Given the description of an element on the screen output the (x, y) to click on. 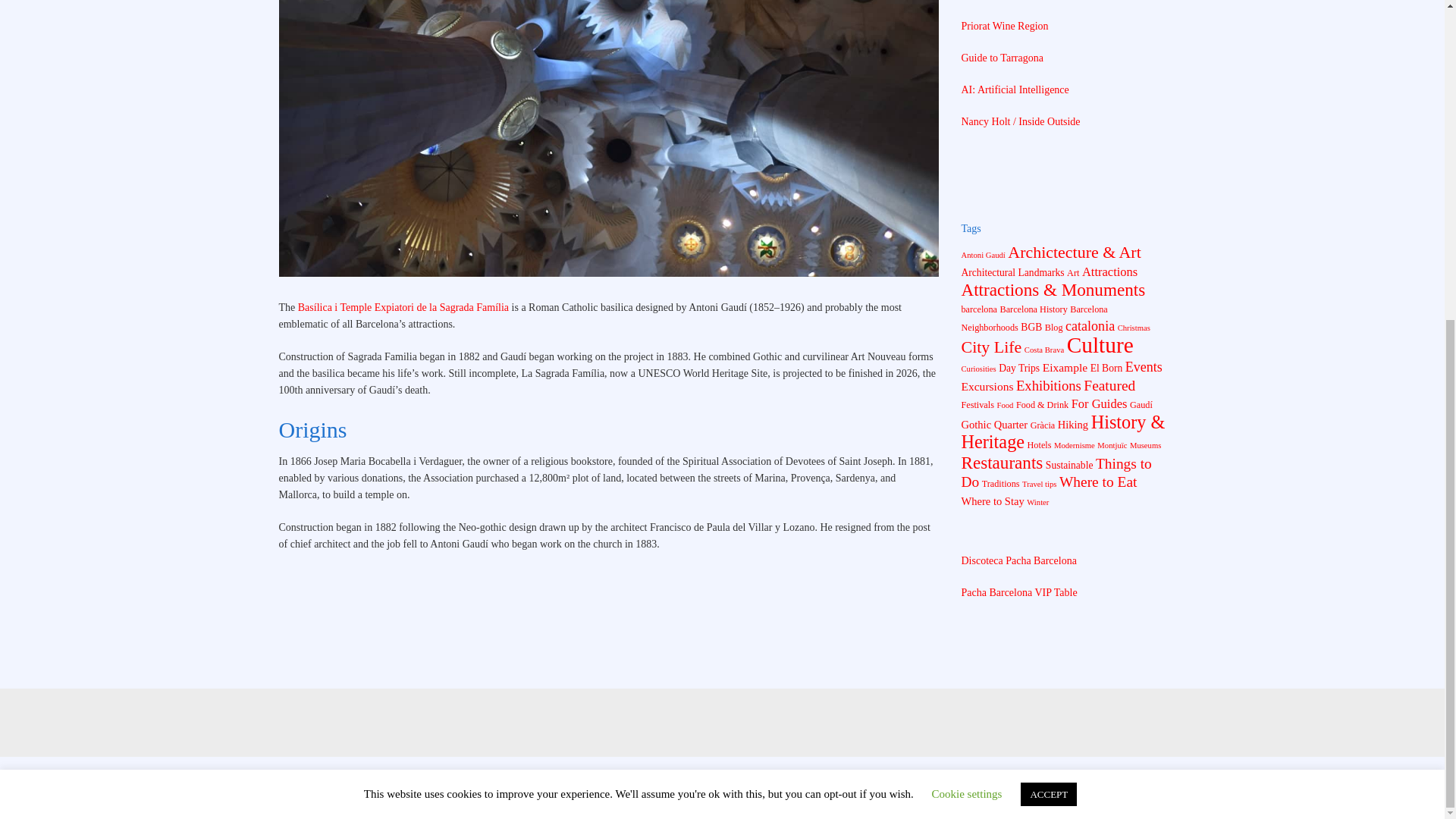
Architectural Landmarks (1012, 272)
Barcelona History (1032, 308)
Art (1072, 272)
Barcelona Neighborhoods (1034, 317)
Priorat Wine Region (1004, 25)
BGB (1031, 326)
AI: Artificial Intelligence (1014, 89)
barcelona (978, 308)
Blog (1053, 327)
Attractions (1109, 271)
Guide to Tarragona (1001, 57)
